Given the description of an element on the screen output the (x, y) to click on. 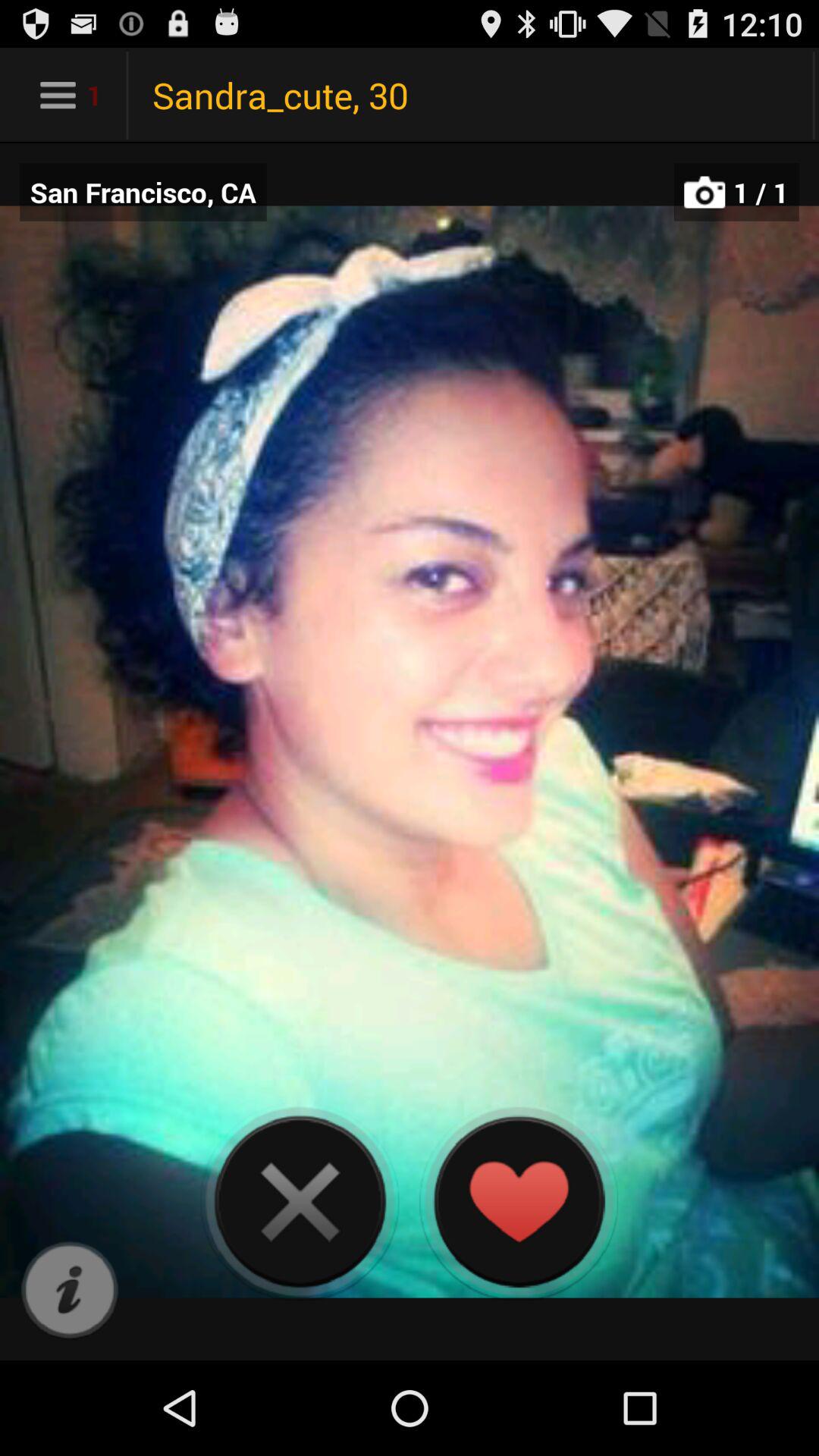
refuse (299, 1200)
